Given the description of an element on the screen output the (x, y) to click on. 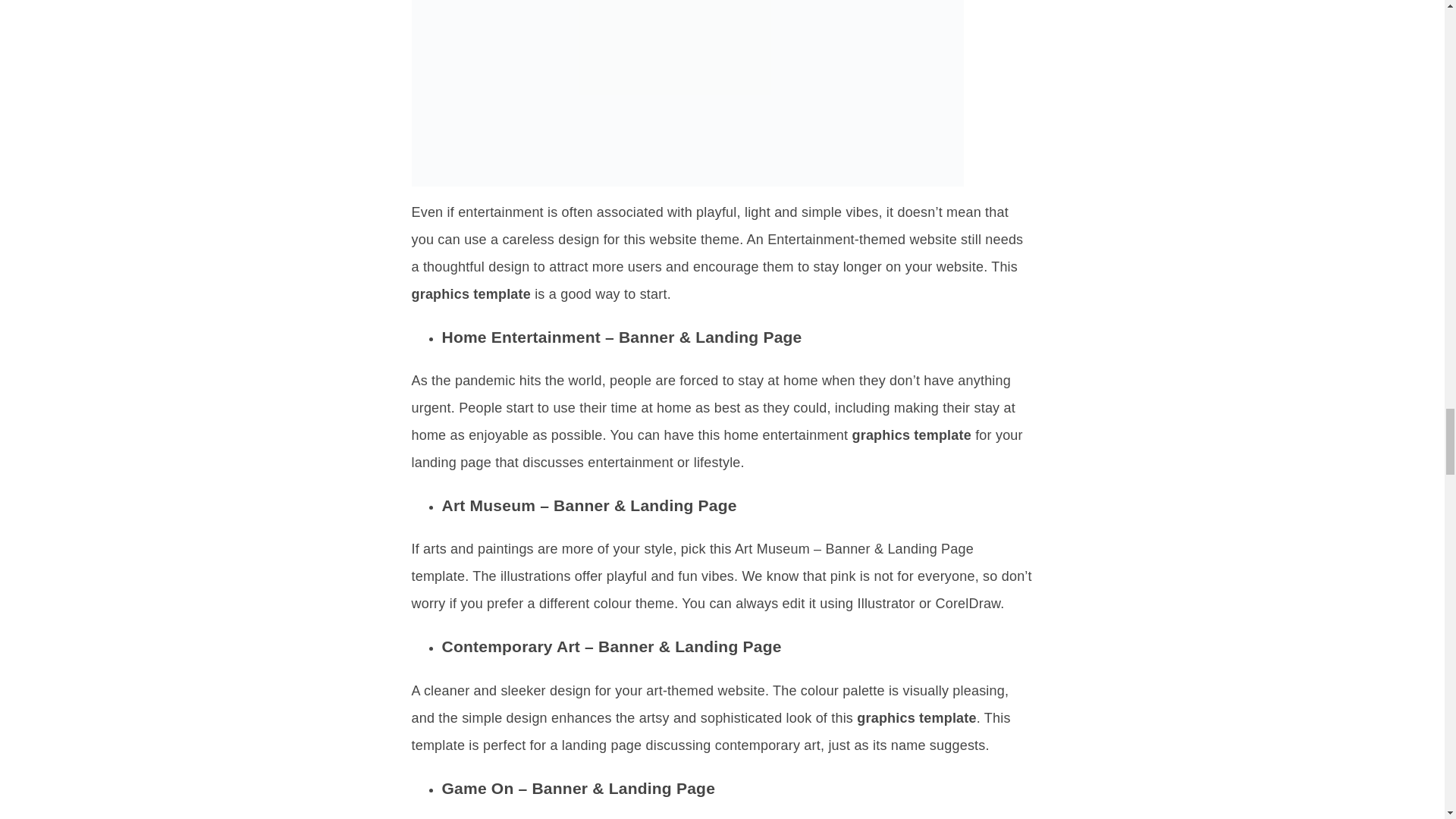
Graphics Template (686, 93)
